Given the description of an element on the screen output the (x, y) to click on. 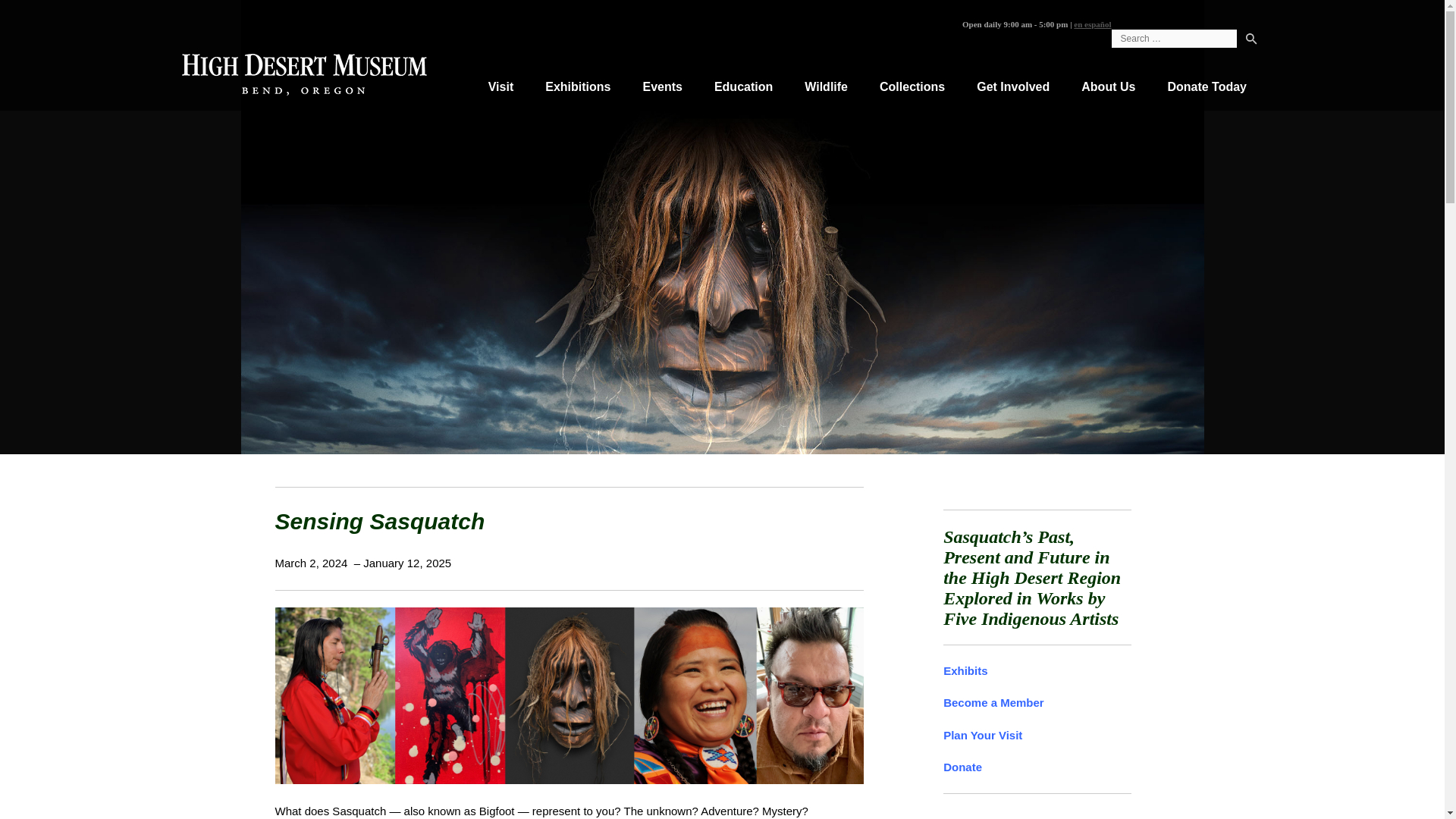
Search (1251, 41)
Education (743, 87)
Wildlife (826, 87)
Search (1251, 41)
Visit (500, 87)
Exhibitions (577, 87)
Search (1251, 41)
Events (661, 87)
